Given the description of an element on the screen output the (x, y) to click on. 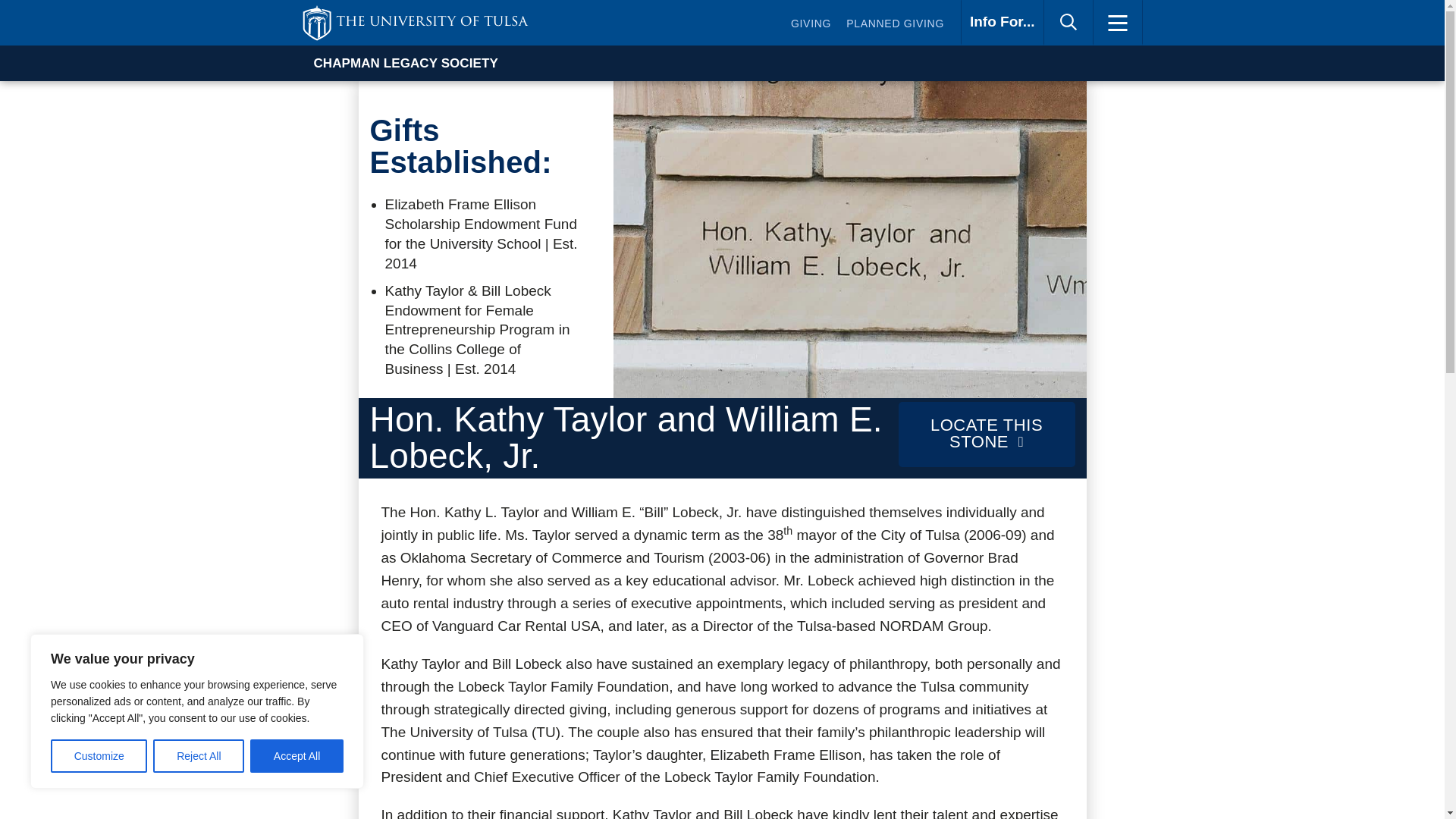
Reject All (198, 756)
Accept All (296, 756)
PLANNED GIVING (1001, 22)
Customize (894, 25)
Link to TU homepage (98, 756)
GIVING (414, 23)
LOCATE THIS STONE (810, 25)
Skip to main content (986, 434)
